Given the description of an element on the screen output the (x, y) to click on. 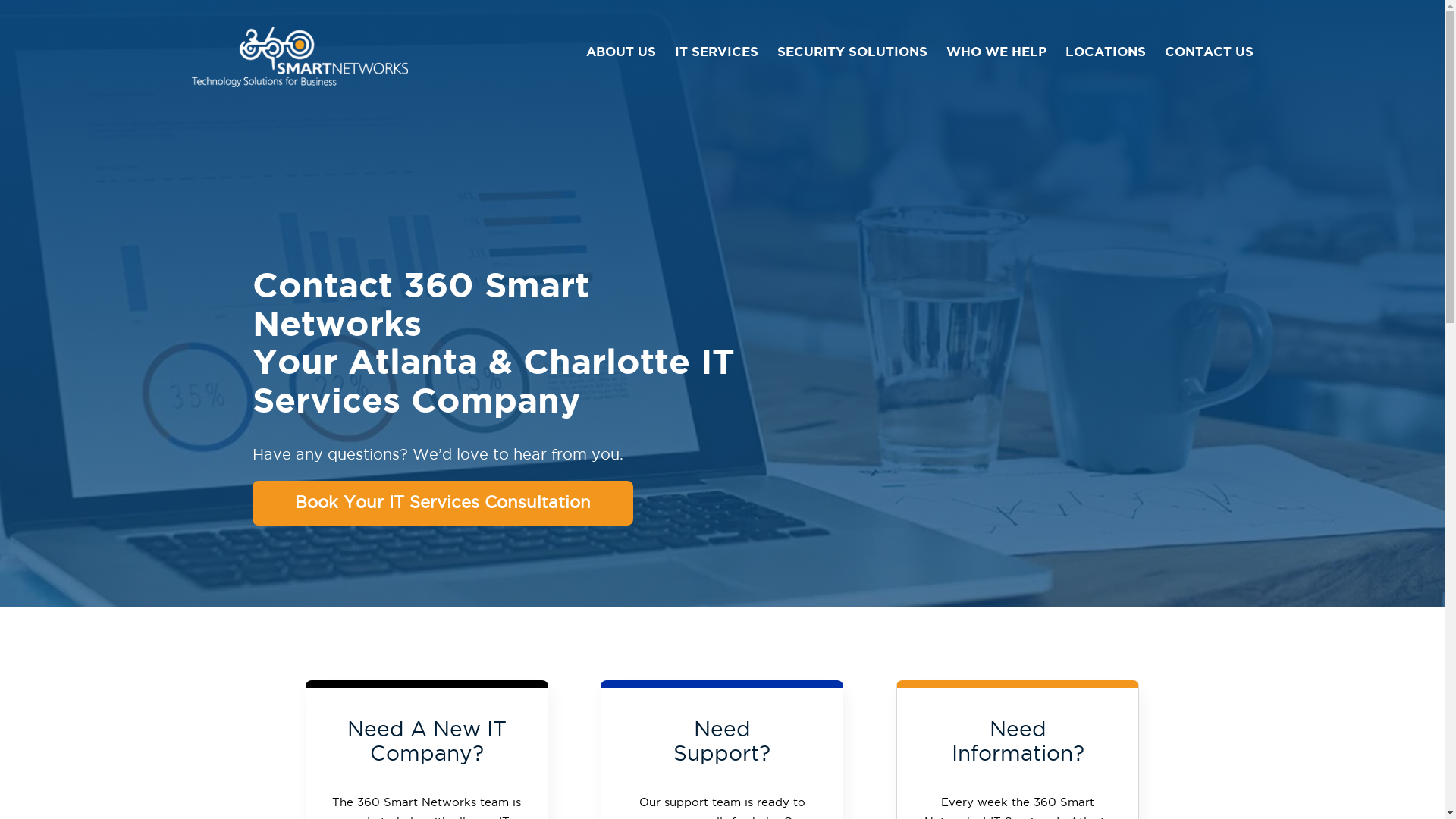
WHO WE HELP Element type: text (996, 50)
IT SERVICES Element type: text (716, 50)
CONTACT US Element type: text (1208, 50)
ABOUT US Element type: text (620, 50)
Book Your IT Services Consultation Element type: text (442, 502)
LOCATIONS Element type: text (1104, 50)
SECURITY SOLUTIONS Element type: text (851, 50)
